Given the description of an element on the screen output the (x, y) to click on. 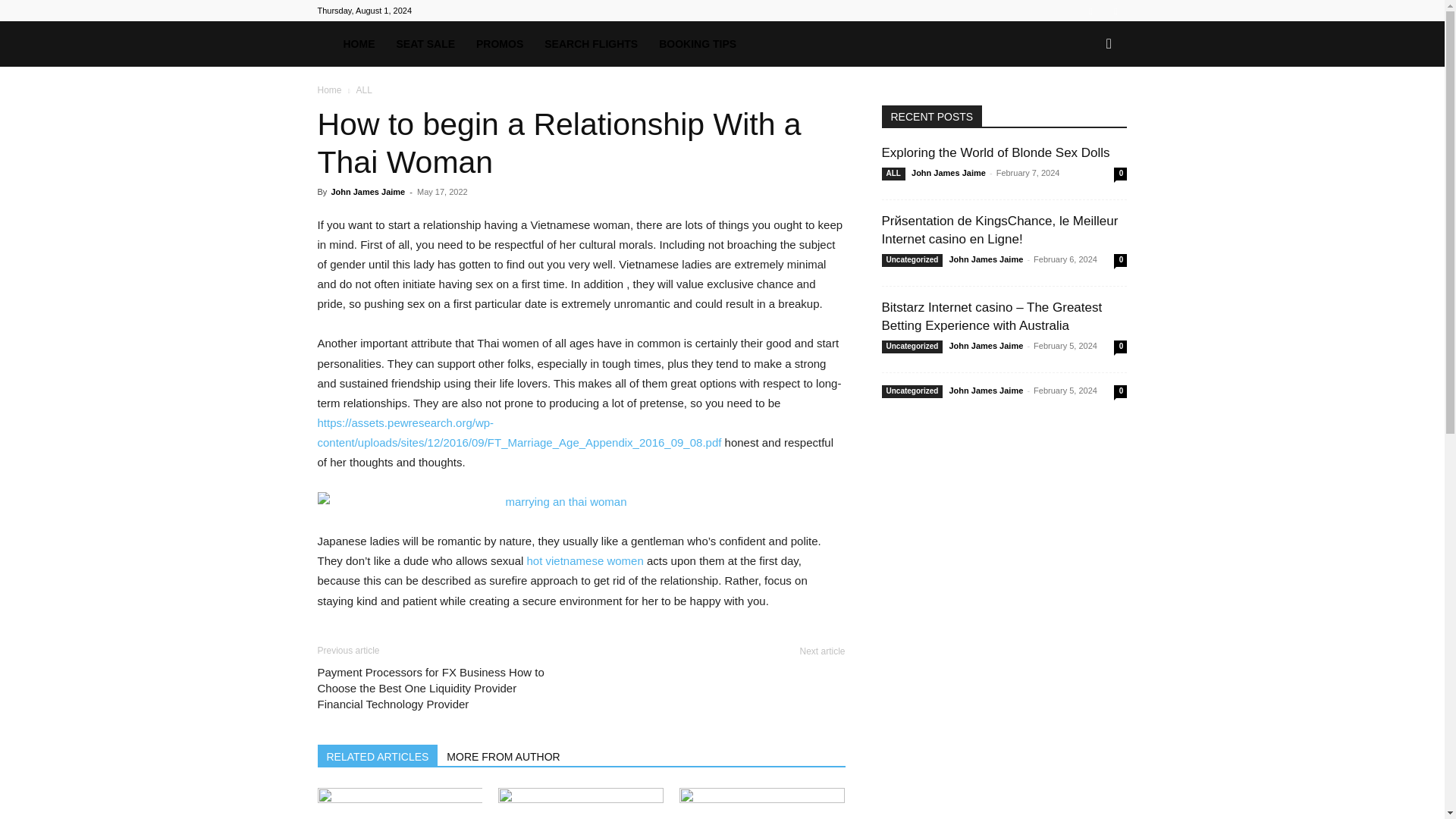
Facebook (1090, 10)
Pinterest (1114, 10)
HOME (358, 43)
SEAT SALE (425, 43)
